Given the description of an element on the screen output the (x, y) to click on. 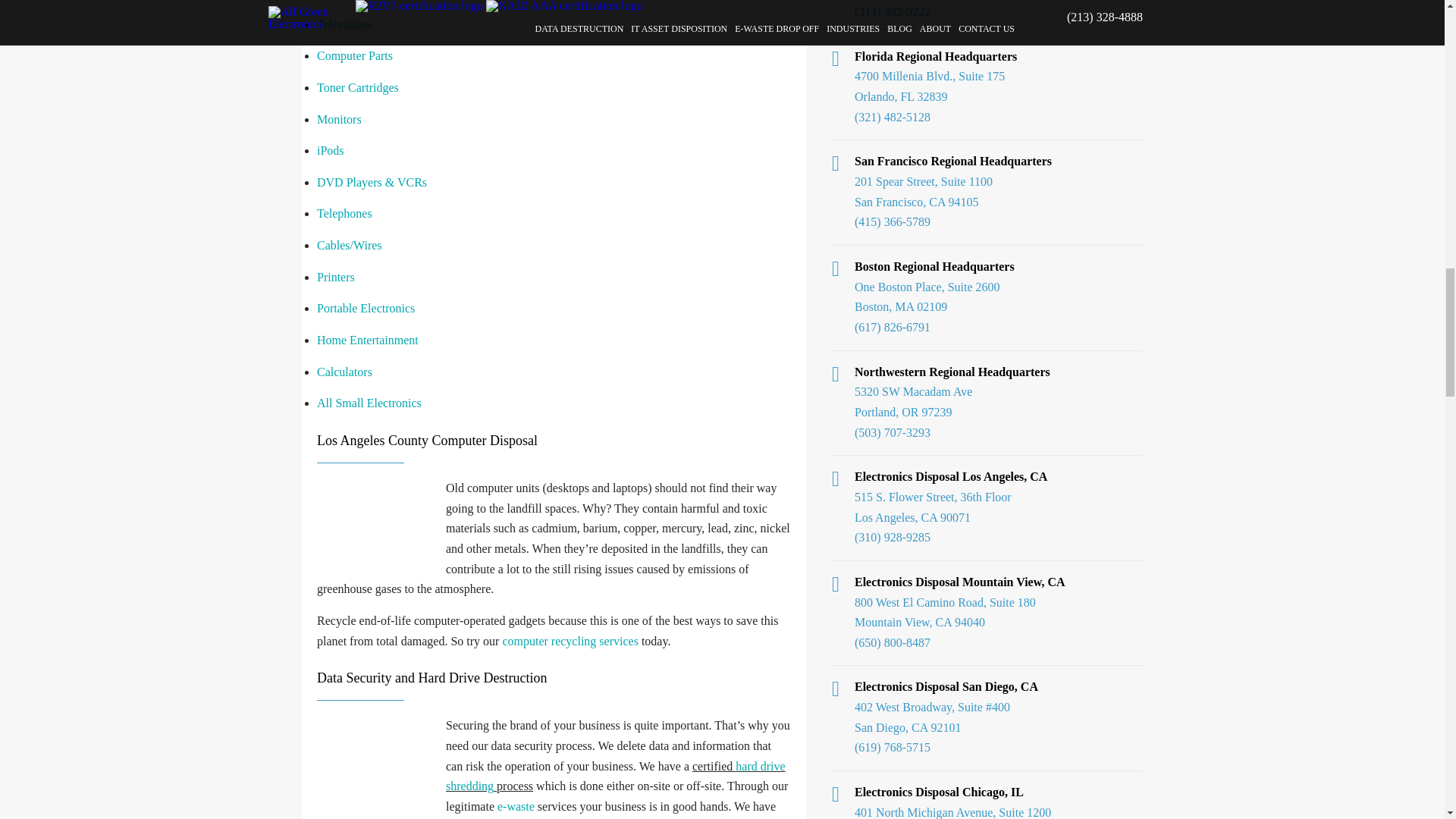
iPods (330, 150)
Calculators (344, 371)
Printers (336, 277)
Televisions (344, 24)
Portable Electronics (365, 308)
Los angeles county electronics recycling 3 (377, 762)
Monitors (339, 118)
Toner Cartridges (357, 87)
Los angeles county electronics recycling 2 (377, 524)
Home Entertainment (368, 339)
